Given the description of an element on the screen output the (x, y) to click on. 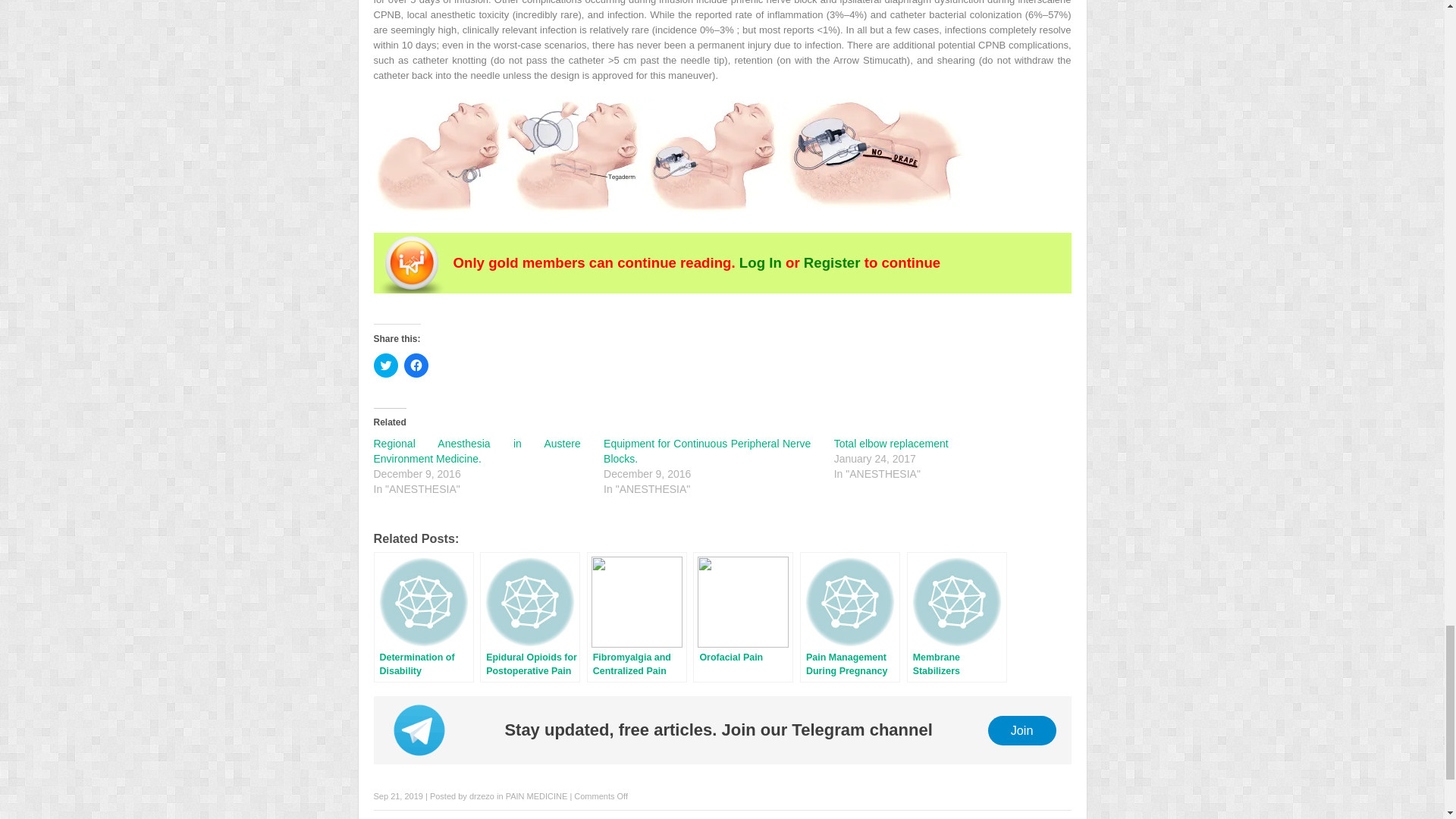
Equipment for Continuous Peripheral Nerve Blocks. (707, 451)
Click to share on Twitter (384, 364)
Posts by drzezo (481, 795)
Click to share on Facebook (415, 364)
Regional Anesthesia in Austere Environment Medicine. (475, 451)
Total elbow replacement (891, 443)
